Given the description of an element on the screen output the (x, y) to click on. 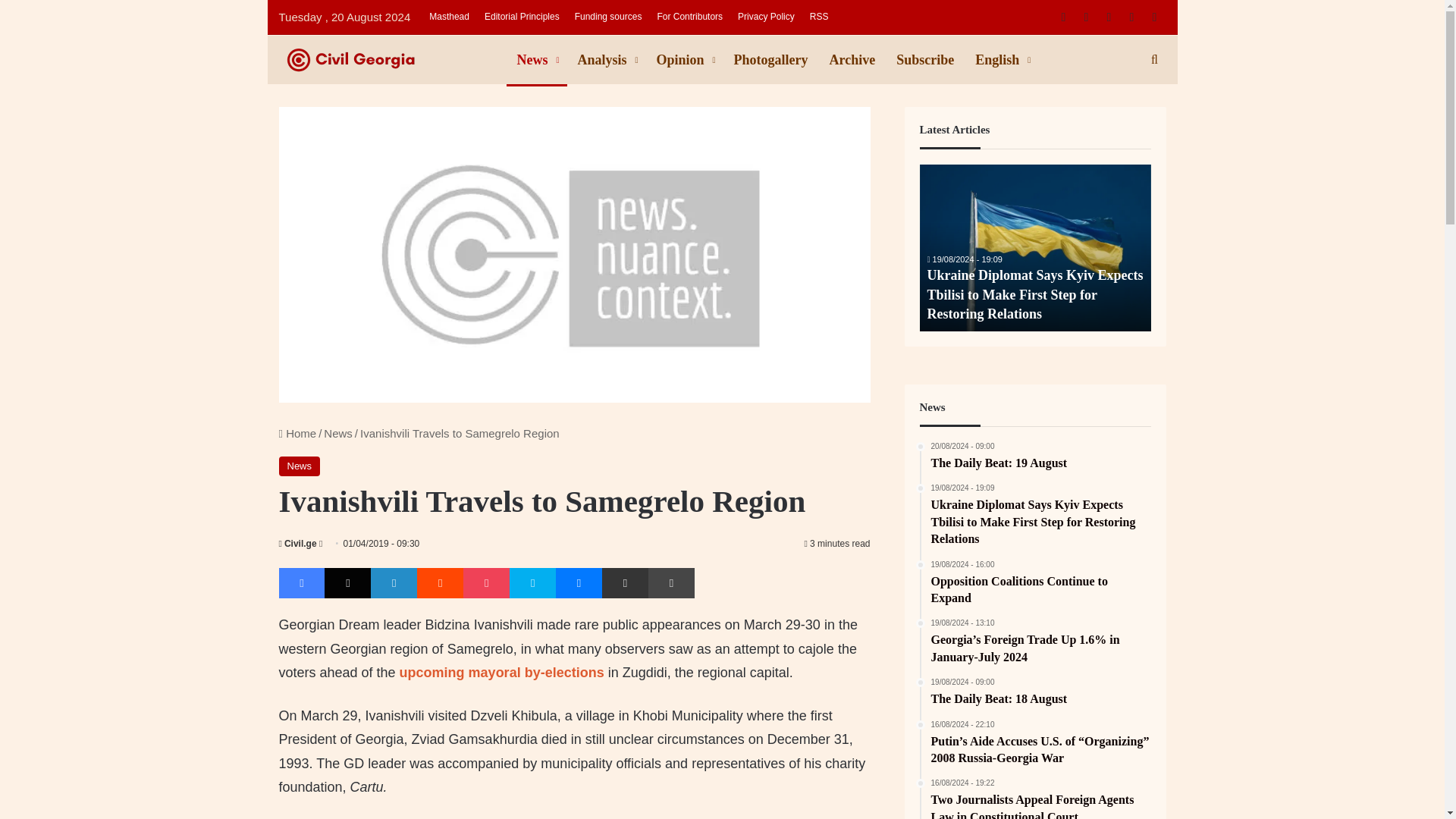
X (347, 583)
Opinion (684, 60)
Editorial Principles (522, 17)
News (337, 432)
Funding sources (608, 17)
Facebook (301, 583)
Messenger (579, 583)
English (1000, 60)
Civil Georgia (392, 59)
For Contributors (689, 17)
